Given the description of an element on the screen output the (x, y) to click on. 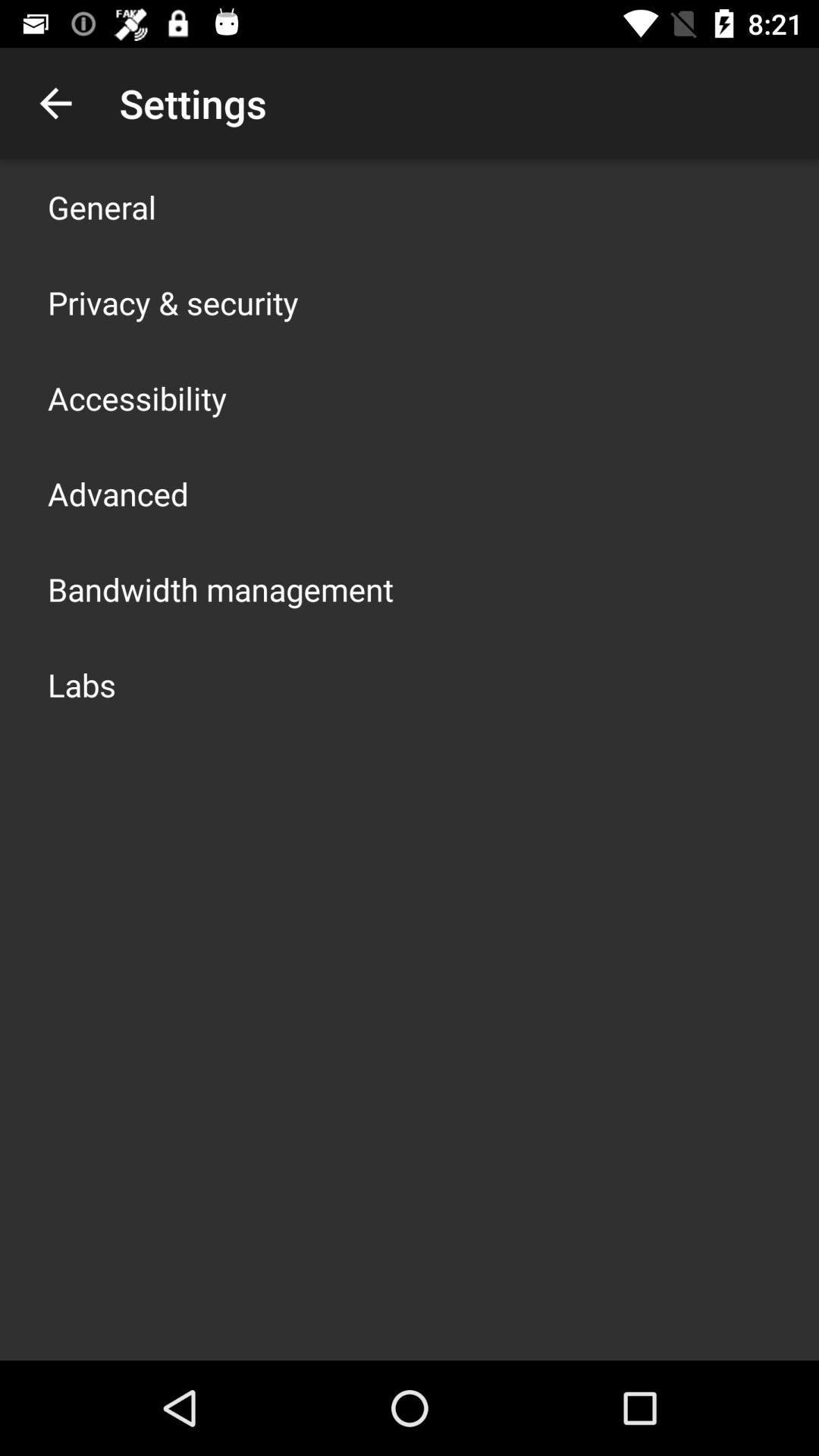
open app below advanced (220, 588)
